Given the description of an element on the screen output the (x, y) to click on. 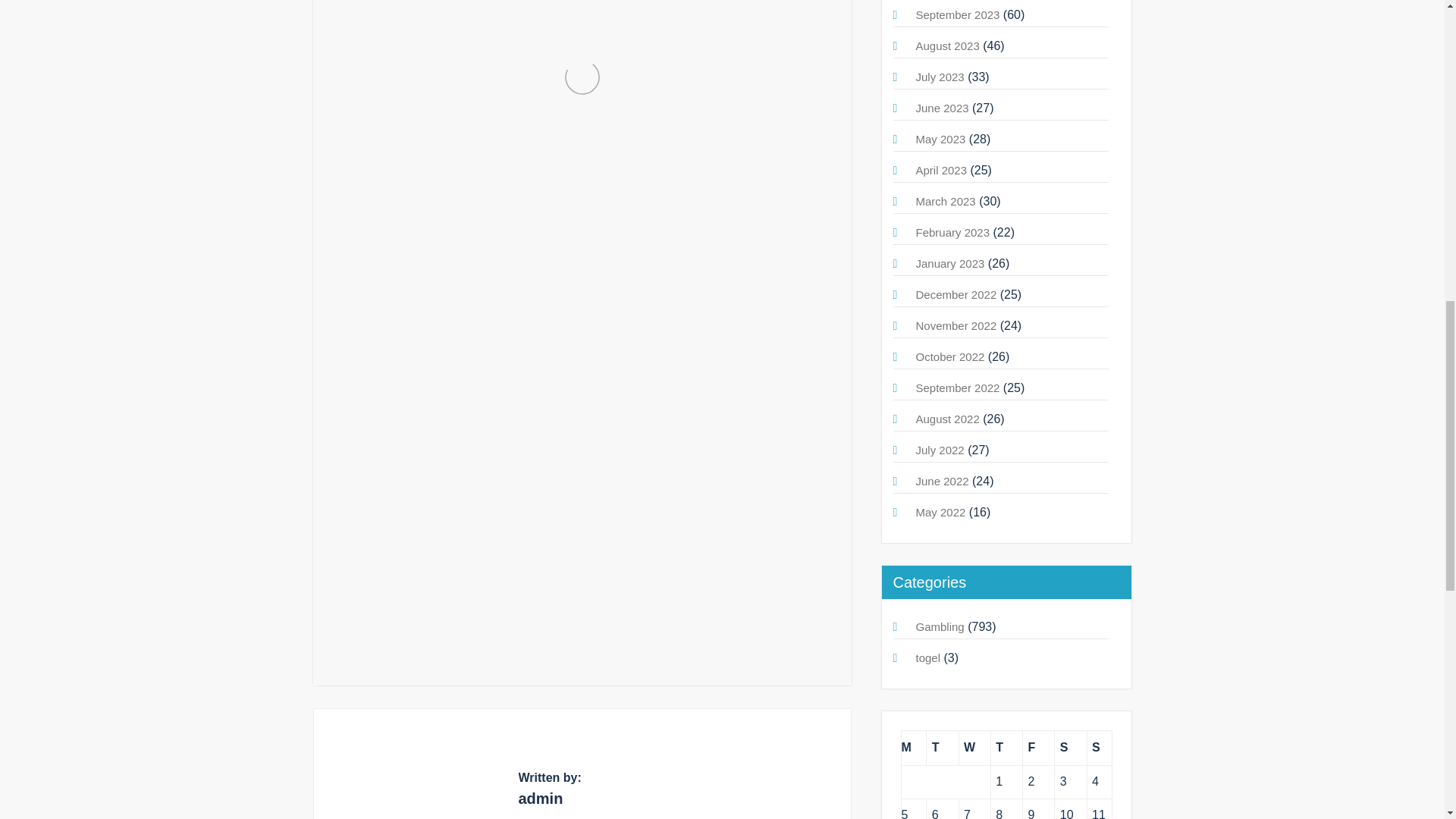
Tuesday (942, 747)
January 2023 (950, 263)
June 2023 (942, 107)
September 2022 (957, 387)
December 2022 (956, 294)
August 2023 (947, 45)
Wednesday (974, 747)
Saturday (1070, 747)
Friday (1038, 747)
September 2023 (957, 14)
